Given the description of an element on the screen output the (x, y) to click on. 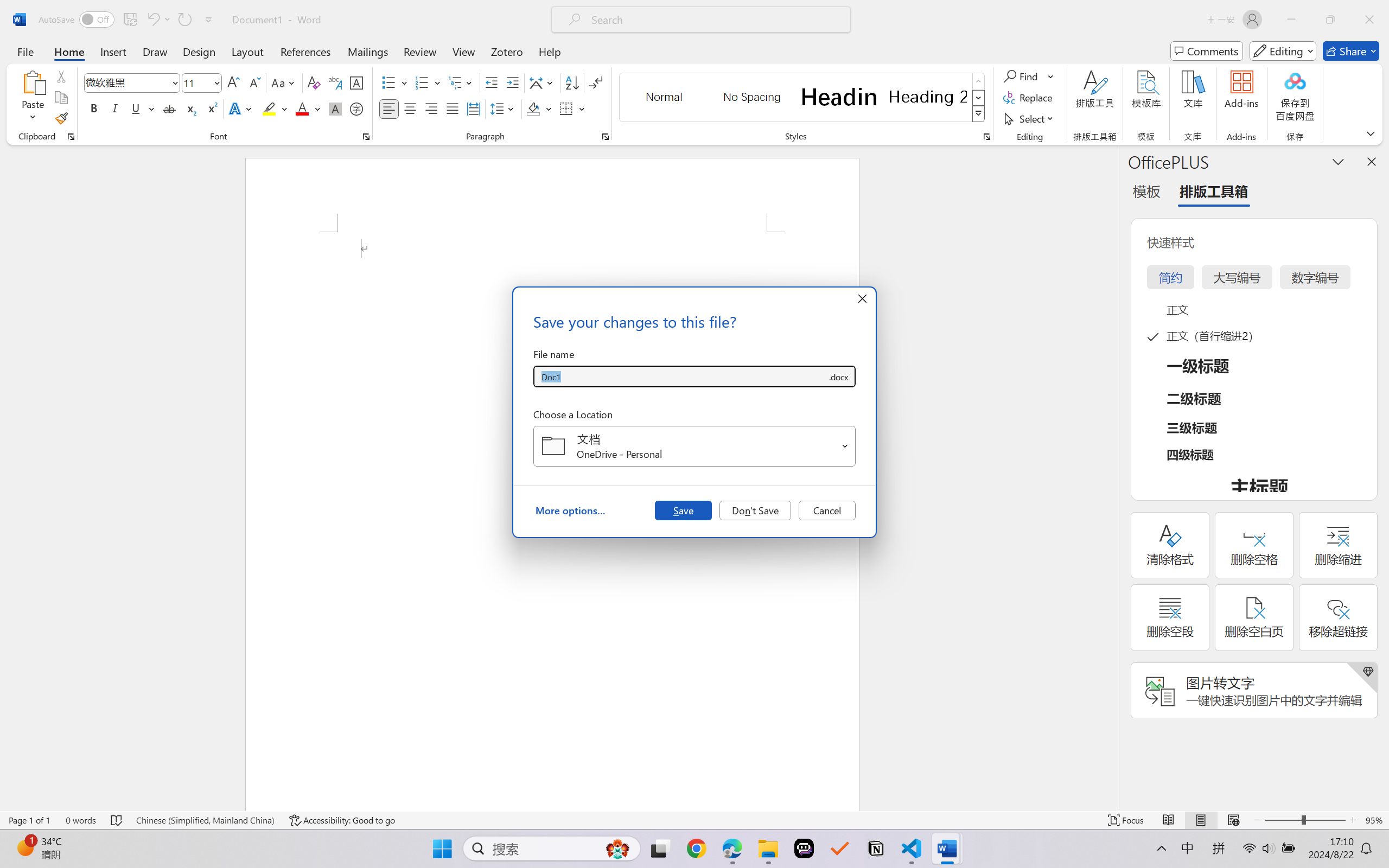
Zoom 95% (1374, 819)
